Given the description of an element on the screen output the (x, y) to click on. 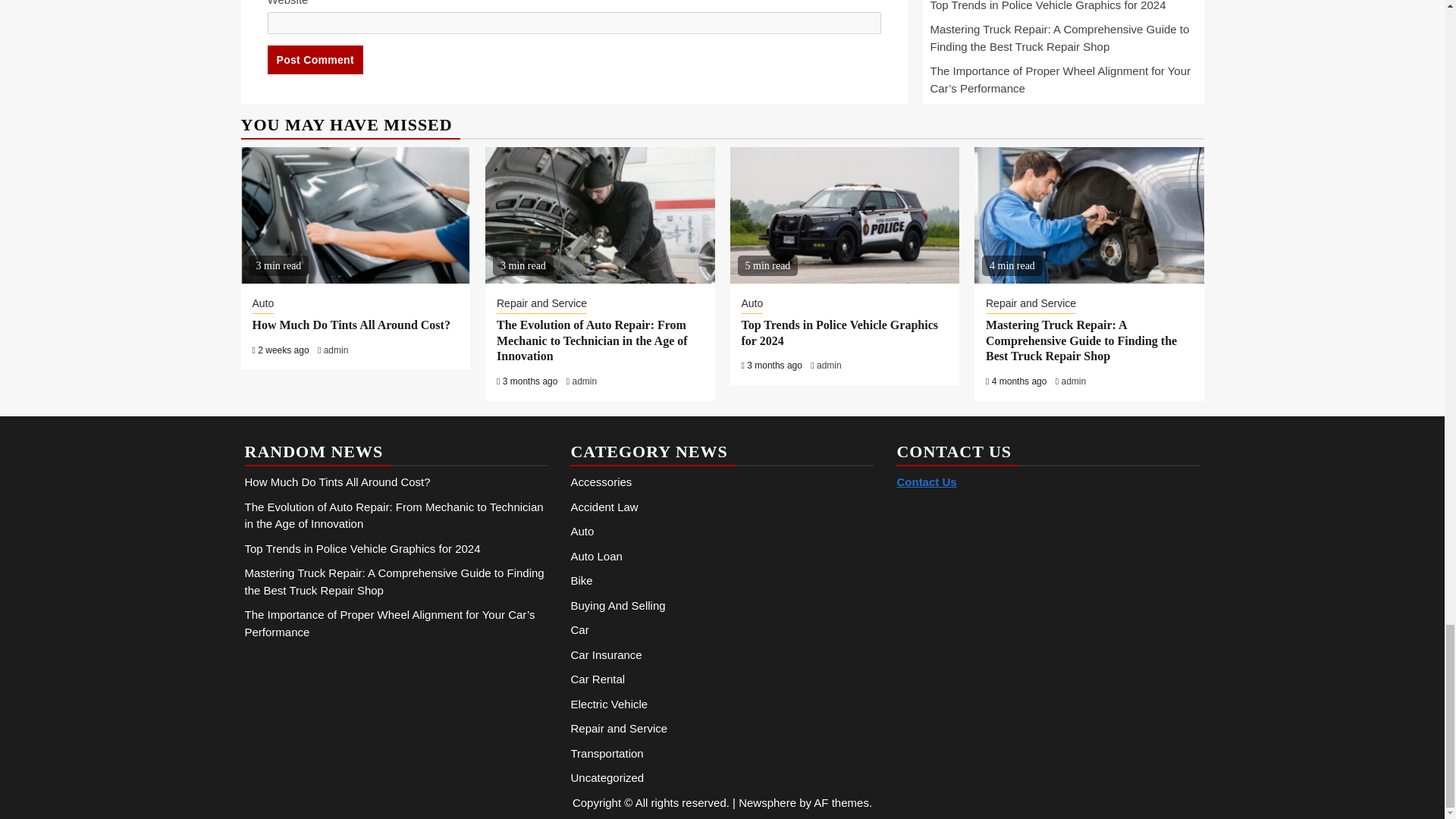
Post Comment (314, 59)
Post Comment (314, 59)
